Given the description of an element on the screen output the (x, y) to click on. 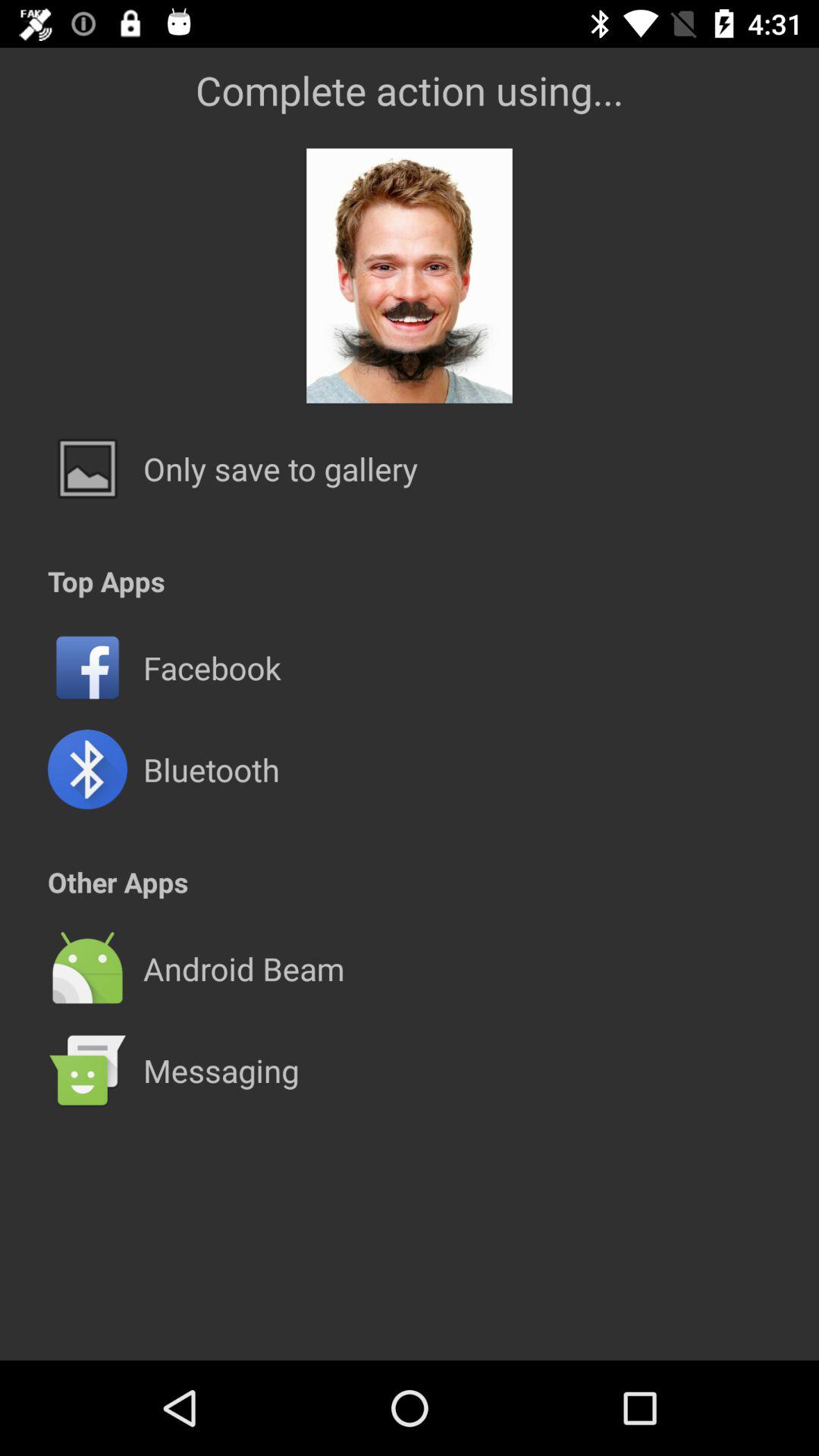
jump until only save to item (280, 468)
